Given the description of an element on the screen output the (x, y) to click on. 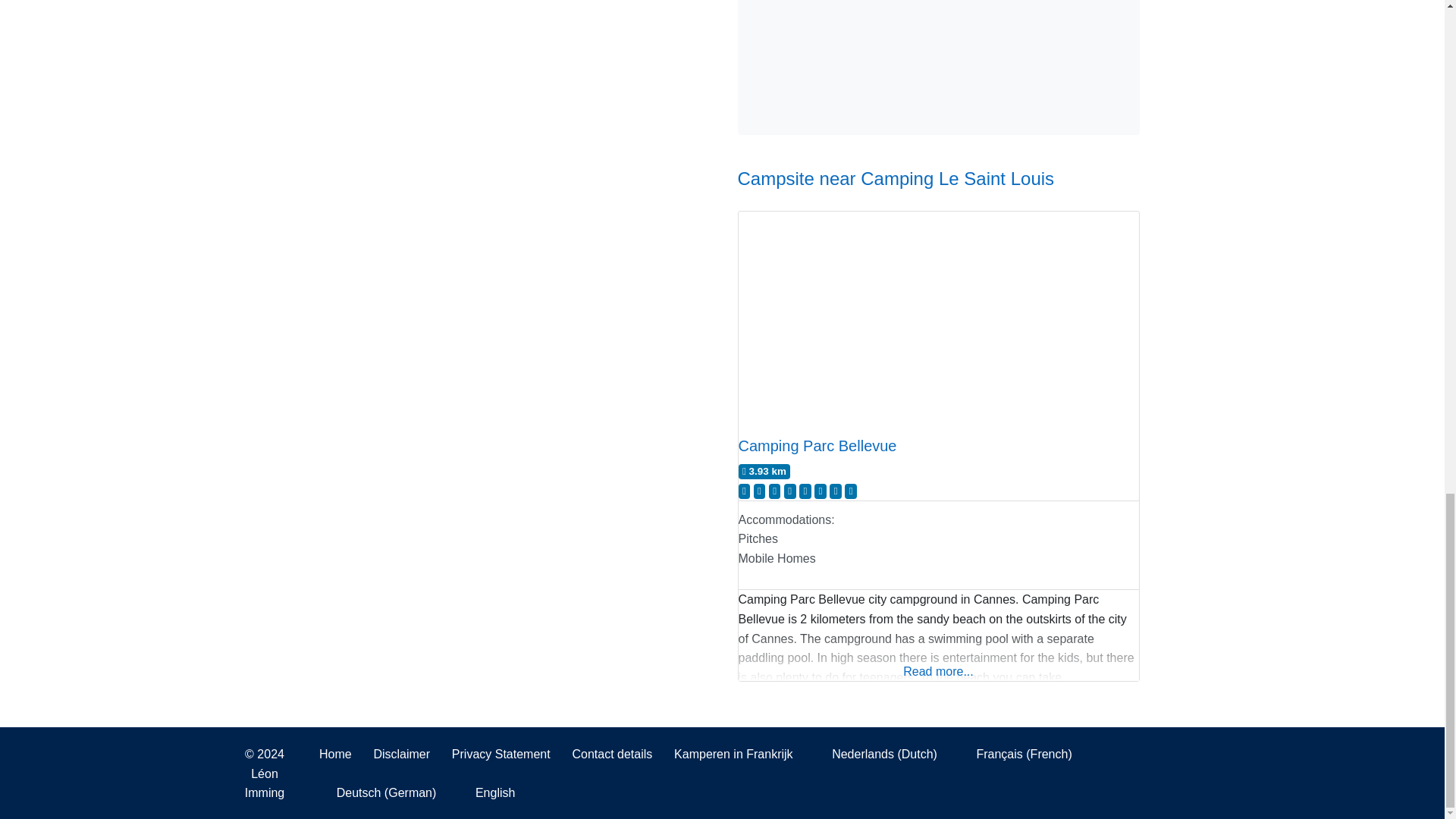
Read more... (938, 653)
Disclaimer (401, 753)
Camping Parc Bellevue (817, 445)
3.93 km (764, 471)
Privacy Statement (500, 753)
Home (335, 753)
